Given the description of an element on the screen output the (x, y) to click on. 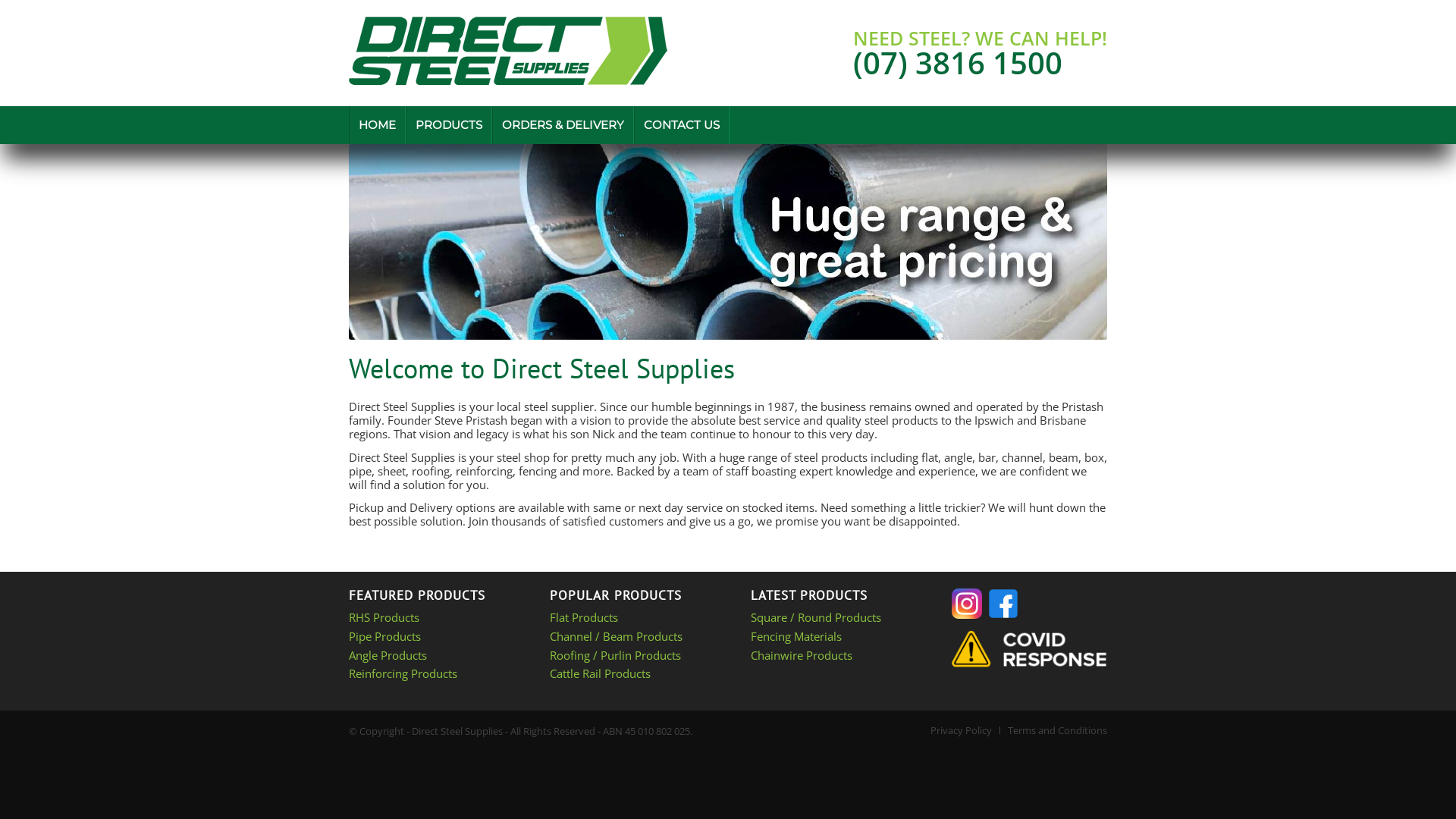
RHS Products Element type: text (426, 617)
Reinforcing Products Element type: text (426, 673)
Channel / Beam Products Element type: text (627, 636)
Cattle Rail Products Element type: text (627, 673)
Terms and Conditions Element type: text (1057, 730)
CONTACT US Element type: text (681, 125)
Chainwire Products Element type: text (828, 655)
PRODUCTS Element type: text (448, 125)
Privacy Policy Element type: text (960, 730)
Square / Round Products Element type: text (828, 617)
Pipe Products Element type: text (426, 636)
Angle Products Element type: text (426, 655)
HOME Element type: text (376, 125)
Direct-Steel-Banner-03 Element type: hover (727, 241)
ORDERS & DELIVERY Element type: text (562, 125)
Fencing Materials Element type: text (828, 636)
Flat Products Element type: text (627, 617)
Roofing / Purlin Products Element type: text (627, 655)
